Given the description of an element on the screen output the (x, y) to click on. 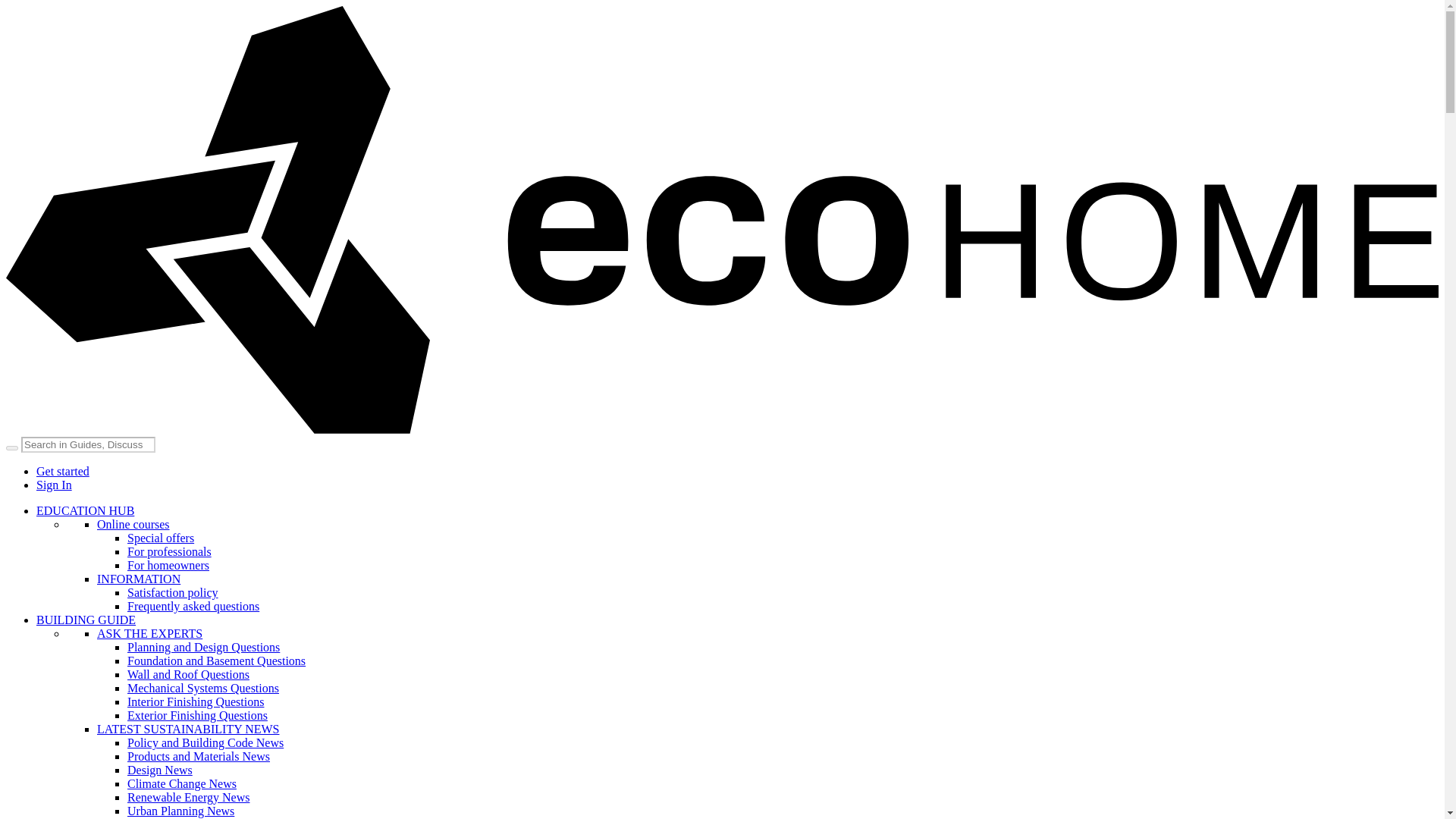
Products and Materials News (198, 756)
Planning and Design Questions (203, 646)
Renewable Energy News (188, 797)
Sign In (53, 484)
Satisfaction policy (173, 592)
Design News (160, 769)
Policy and Building Code News (205, 742)
EDUCATION HUB (84, 510)
Frequently asked questions (193, 605)
LATEST SUSTAINABILITY NEWS (188, 728)
Urban Planning News (181, 810)
Special offers (160, 537)
Foundation and Basement Questions (216, 660)
Wall and Roof Questions (188, 674)
